Given the description of an element on the screen output the (x, y) to click on. 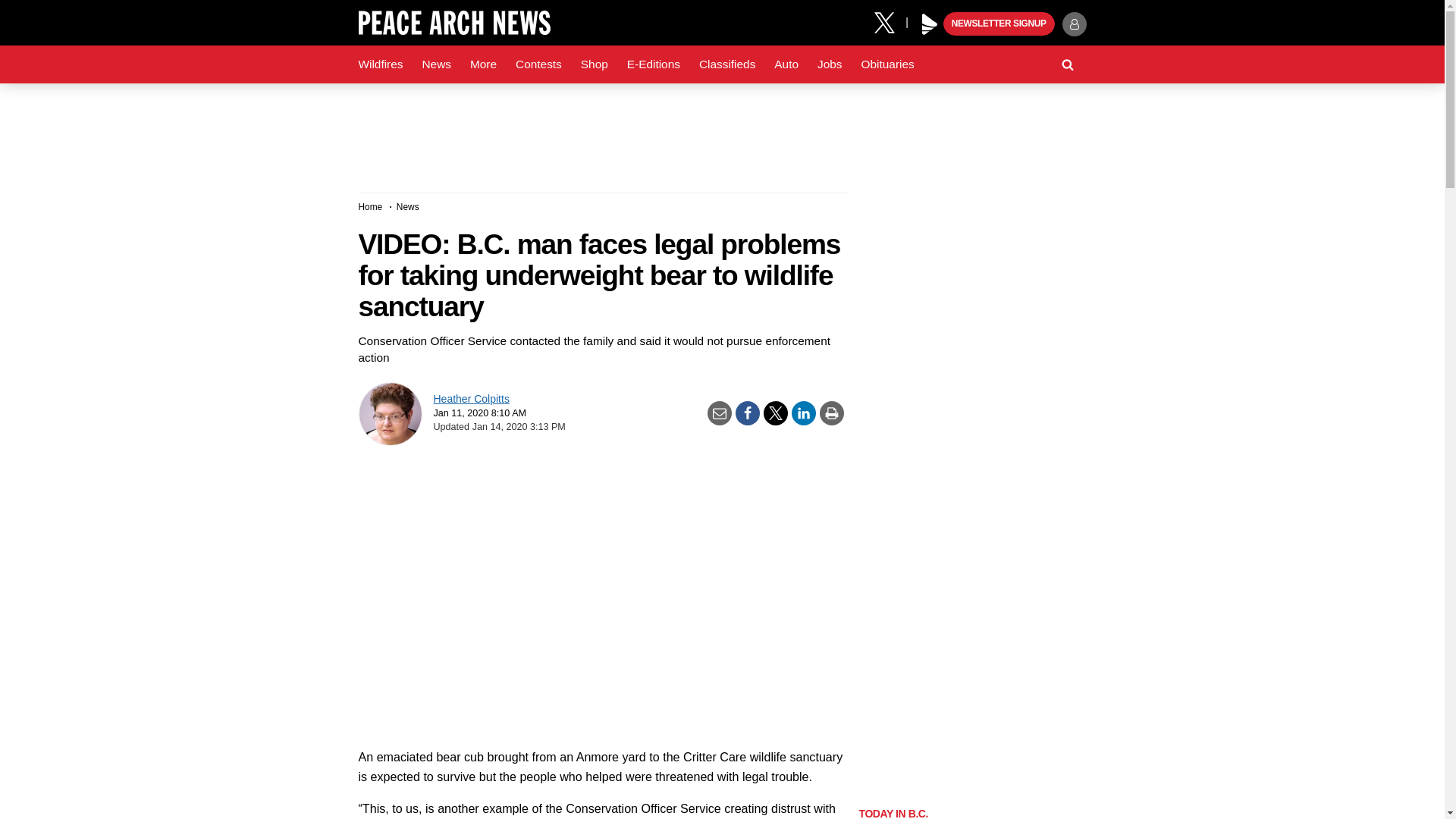
Play (929, 24)
News (435, 64)
Wildfires (380, 64)
NEWSLETTER SIGNUP (998, 24)
X (889, 21)
Black Press Media (929, 24)
